Given the description of an element on the screen output the (x, y) to click on. 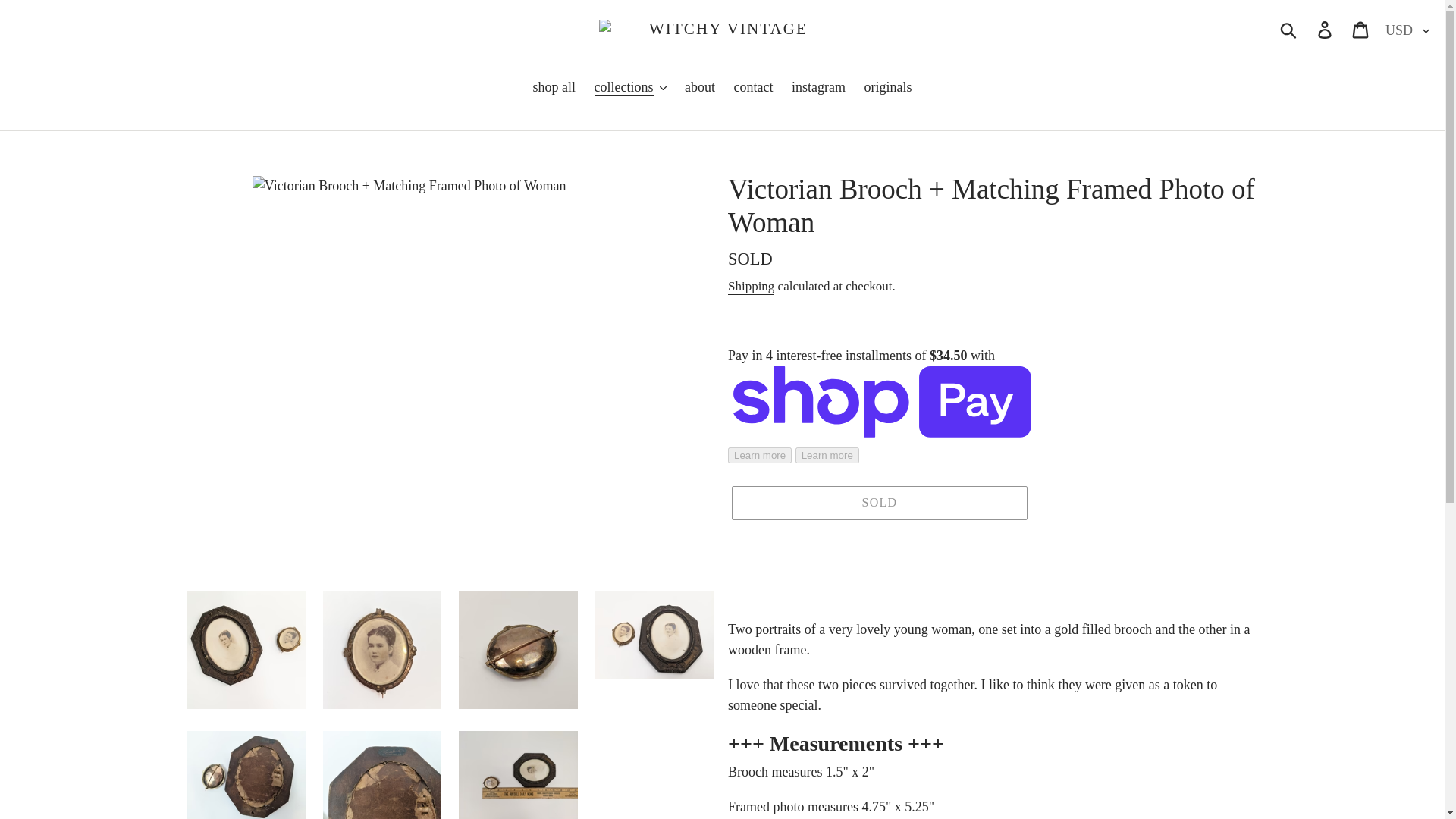
Submit (1289, 28)
contact (753, 87)
Log in (1325, 28)
Cart (1360, 28)
shop all (554, 87)
instagram (818, 87)
about (699, 87)
originals (887, 87)
